Given the description of an element on the screen output the (x, y) to click on. 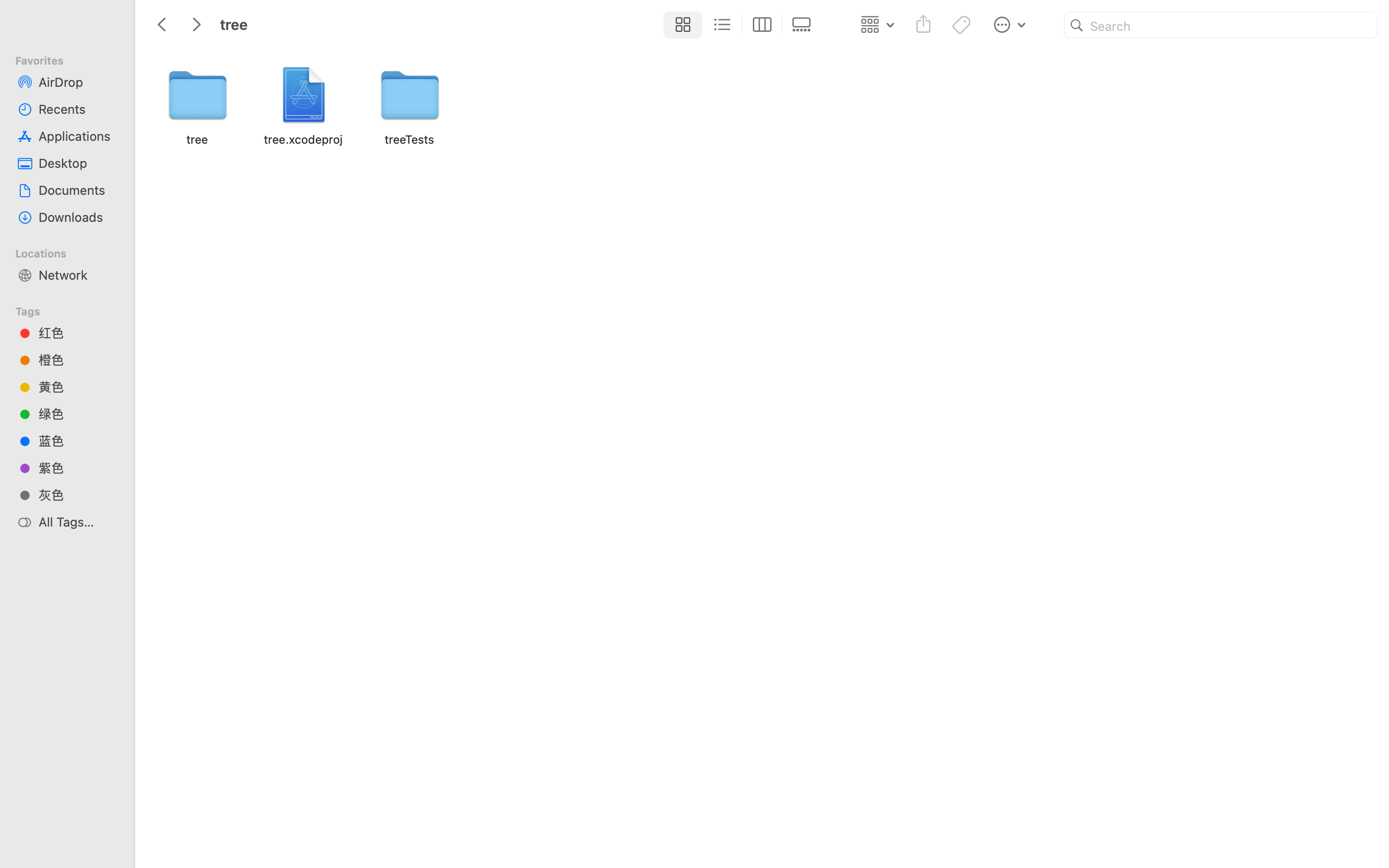
AirDrop Element type: AXStaticText (77, 81)
tree Element type: AXStaticText (437, 827)
All Tags… Element type: AXStaticText (77, 521)
Recents Element type: AXStaticText (77, 108)
绿色 Element type: AXStaticText (77, 413)
